Given the description of an element on the screen output the (x, y) to click on. 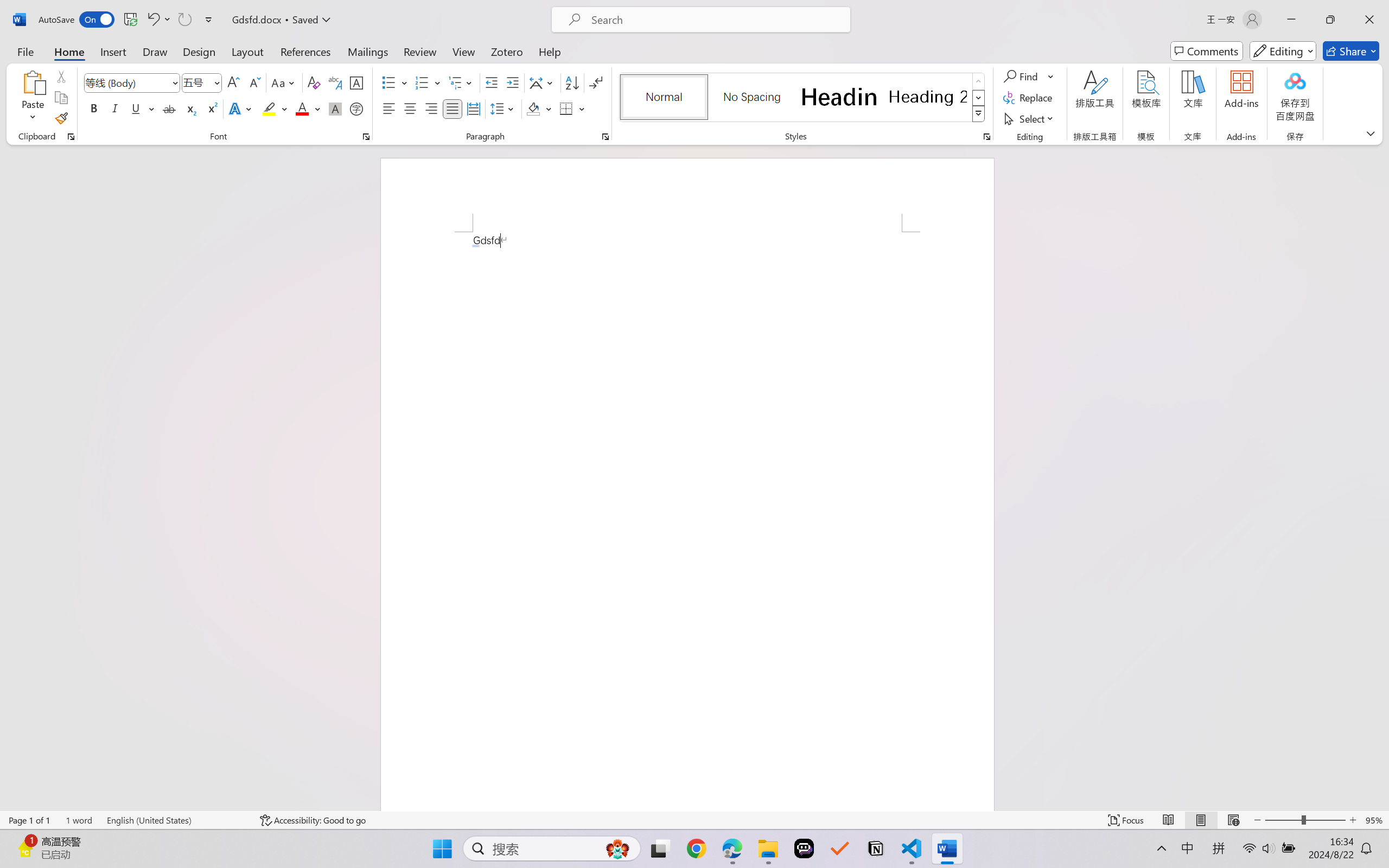
Class: MsoCommandBar (694, 819)
Text Highlight Color Yellow (269, 108)
Sort... (571, 82)
Phonetic Guide... (334, 82)
Enclose Characters... (356, 108)
Clear Formatting (313, 82)
Page 1 content (687, 521)
Heading 2 (927, 96)
